Given the description of an element on the screen output the (x, y) to click on. 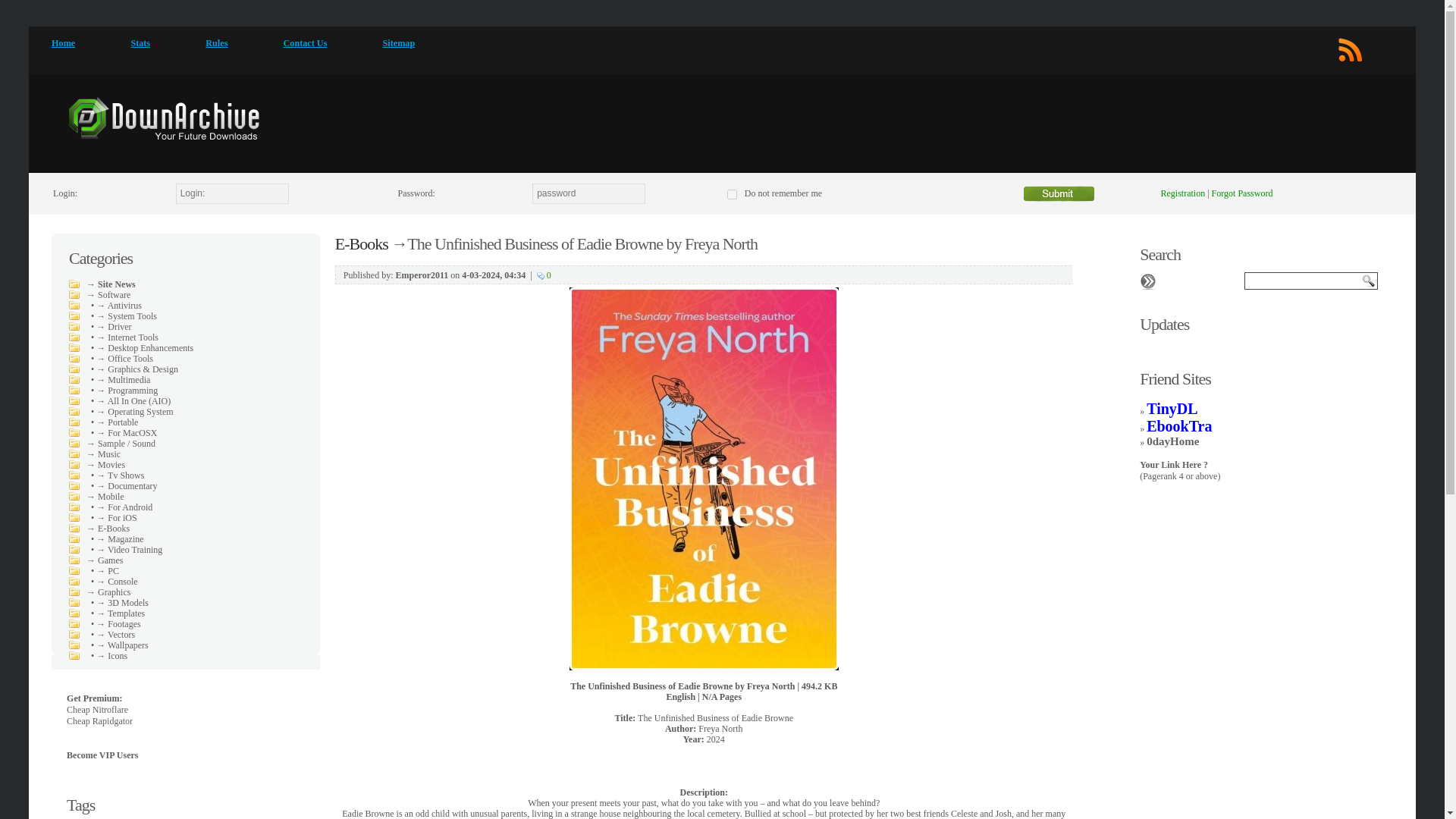
Home (62, 42)
Graphics (114, 592)
Registration (1182, 193)
Stats (140, 42)
Sitemap (398, 42)
Mobile (110, 496)
Forgot Password (1241, 193)
Contact Us (305, 42)
E-Books (113, 528)
DownArchive (162, 119)
1 (731, 194)
Movies (111, 464)
Games (109, 560)
Software (114, 294)
Rules (216, 42)
